Given the description of an element on the screen output the (x, y) to click on. 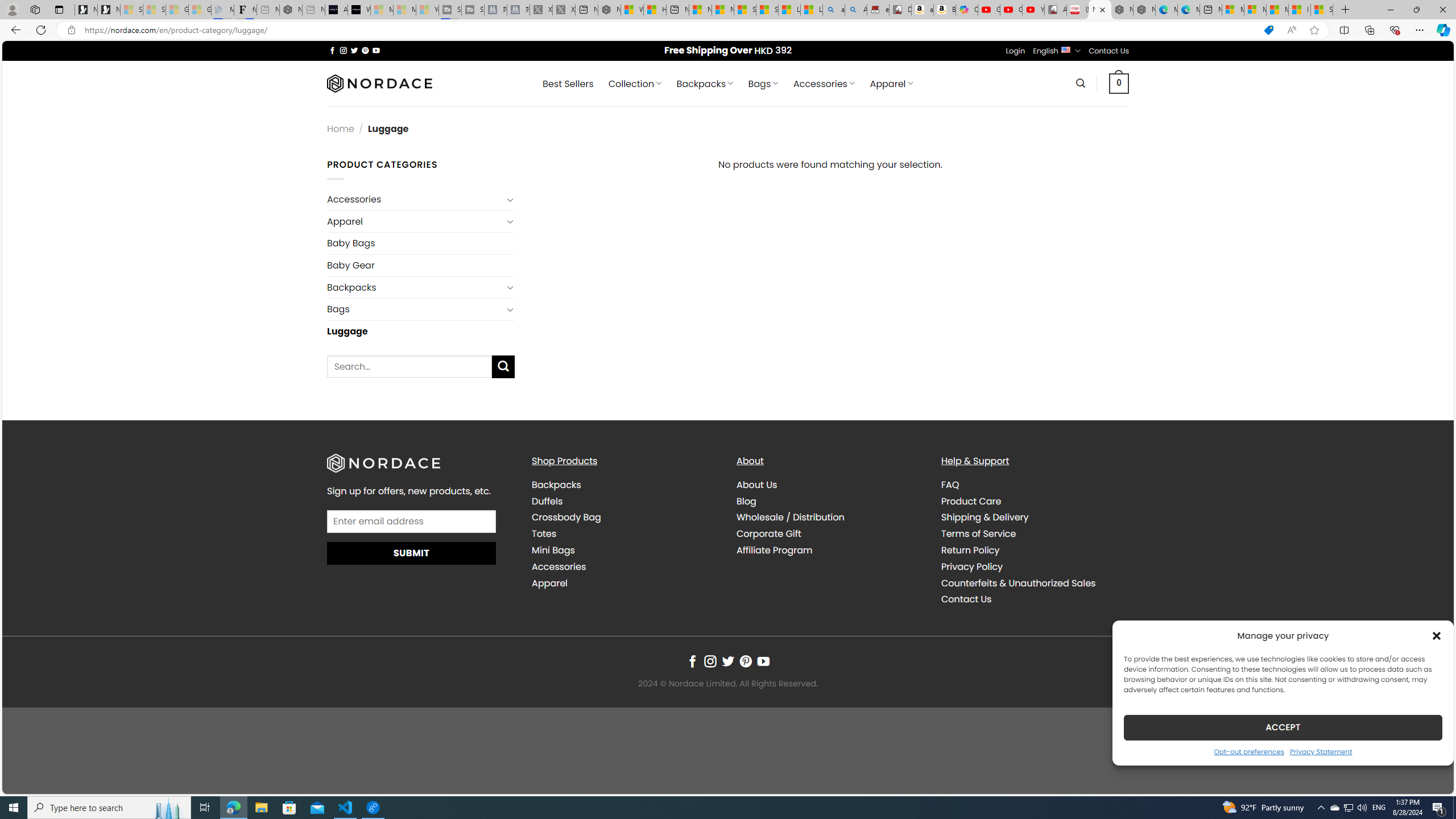
Amazon Echo Dot PNG - Search Images (856, 9)
Blog (830, 501)
Mini Bags (625, 549)
amazon.in/dp/B0CX59H5W7/?tag=gsmcom05-21 (923, 9)
Follow on Instagram (710, 661)
Follow on Pinterest (745, 661)
Totes (625, 533)
Wholesale / Distribution (830, 517)
Follow on Facebook (691, 661)
Baby Bags (421, 242)
